Given the description of an element on the screen output the (x, y) to click on. 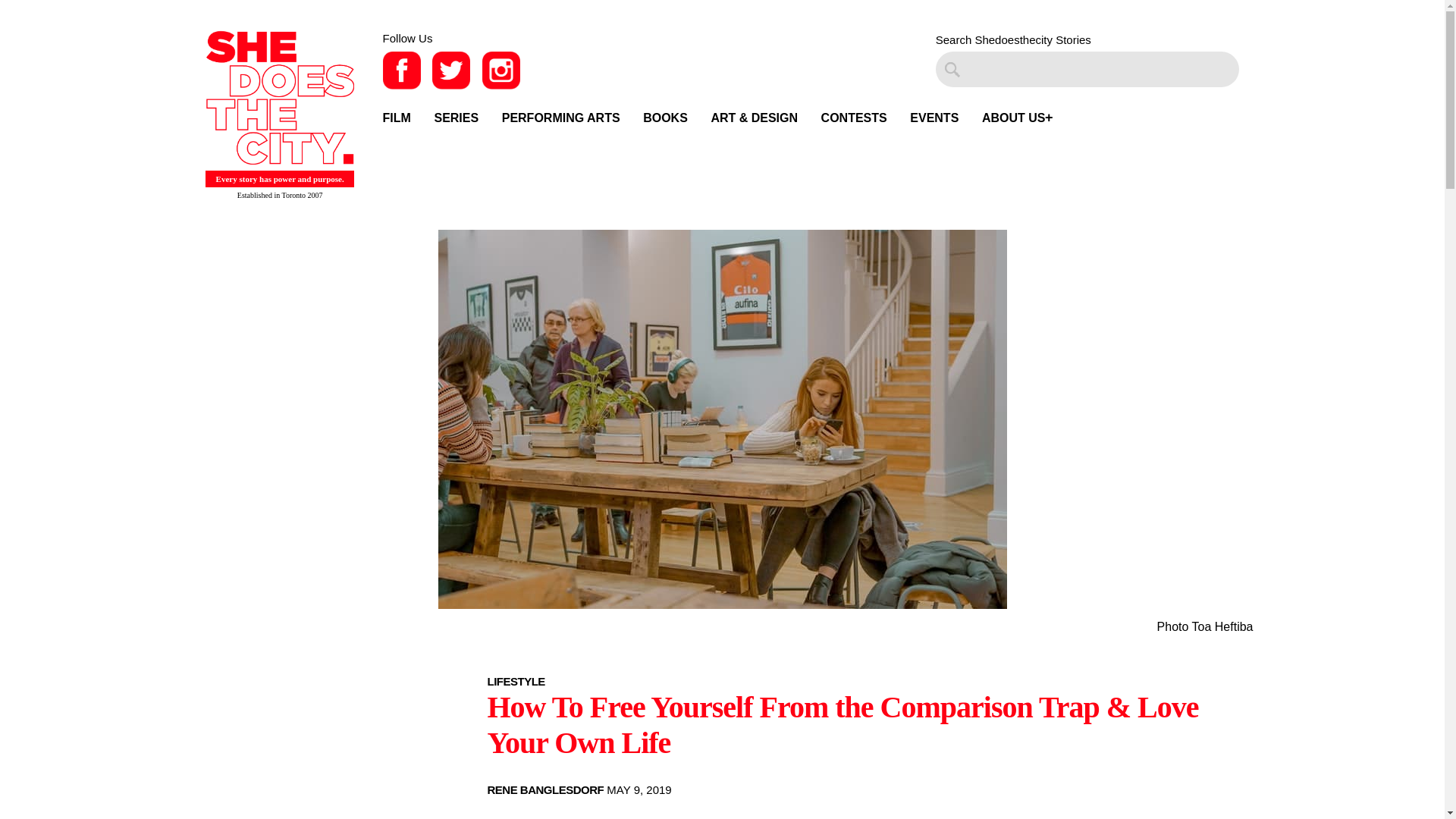
SERIES (456, 117)
CONTESTS (853, 117)
LIFESTYLE (515, 680)
PERFORMING ARTS (561, 117)
FILM (396, 117)
BOOKS (665, 117)
ABOUT US (1013, 117)
EVENTS (934, 117)
